Given the description of an element on the screen output the (x, y) to click on. 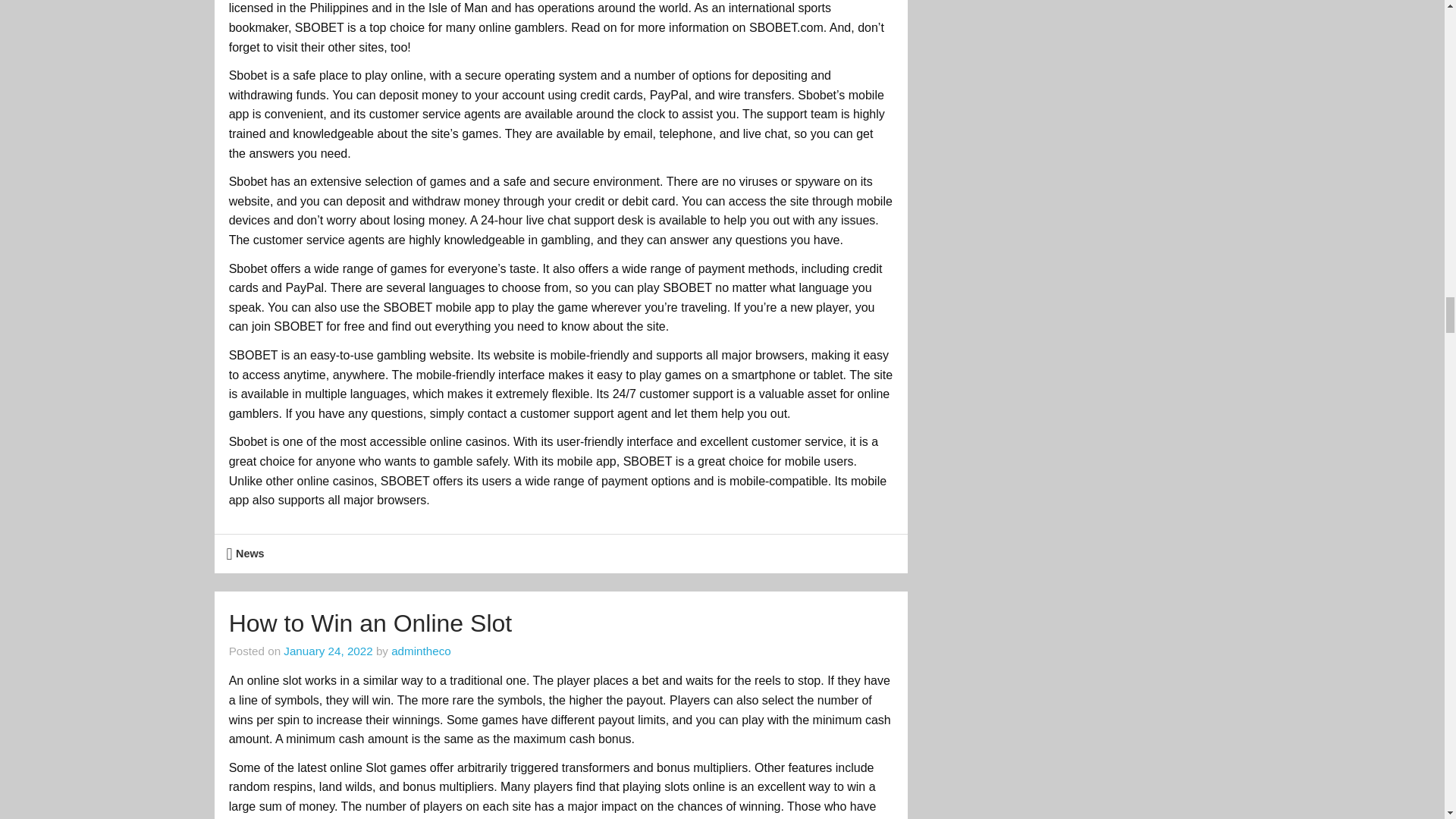
News (249, 553)
View all posts by admintheco (421, 650)
4:42 pm (327, 650)
